Given the description of an element on the screen output the (x, y) to click on. 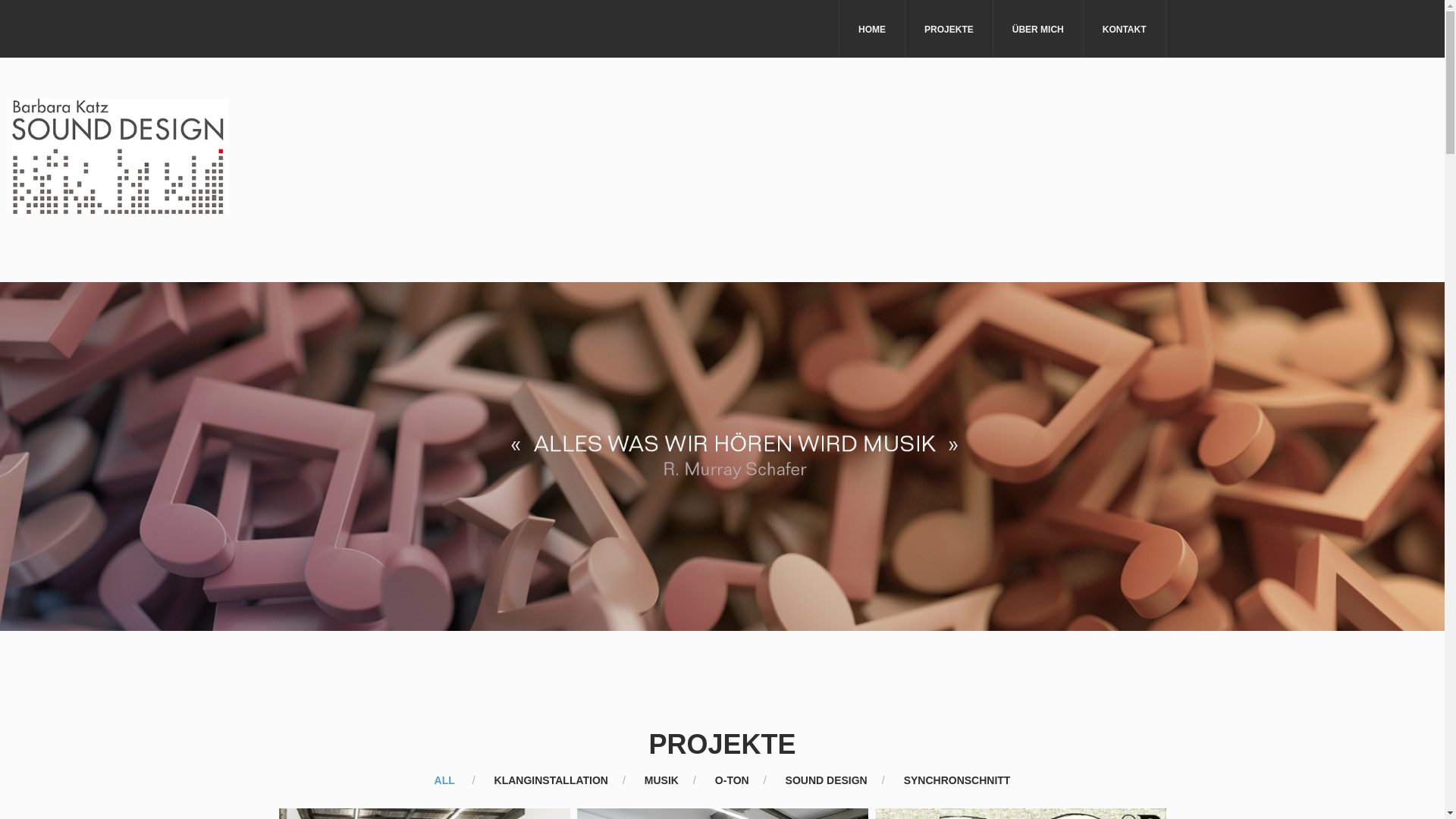
ALL Element type: text (444, 780)
KONTAKT Element type: text (1124, 28)
KLANGINSTALLATION Element type: text (551, 780)
HOME Element type: text (871, 28)
MUSIK Element type: text (661, 780)
O-TON Element type: text (732, 780)
SOUND DESIGN Element type: text (826, 780)
PROJEKTE Element type: text (948, 28)
SYNCHRONSCHNITT Element type: text (956, 780)
